Given the description of an element on the screen output the (x, y) to click on. 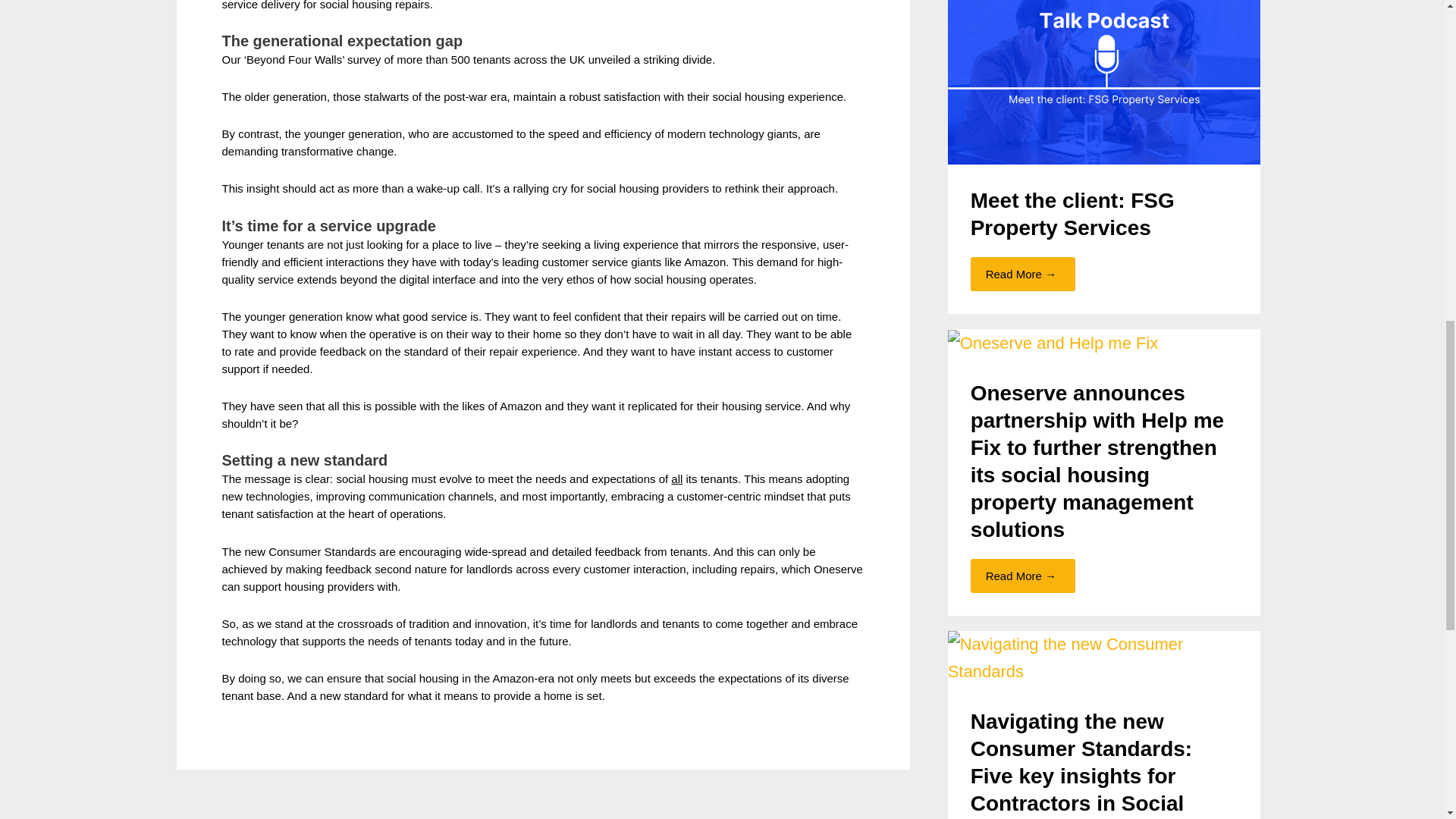
Meet the client: FSG Property Services (1103, 58)
